Given the description of an element on the screen output the (x, y) to click on. 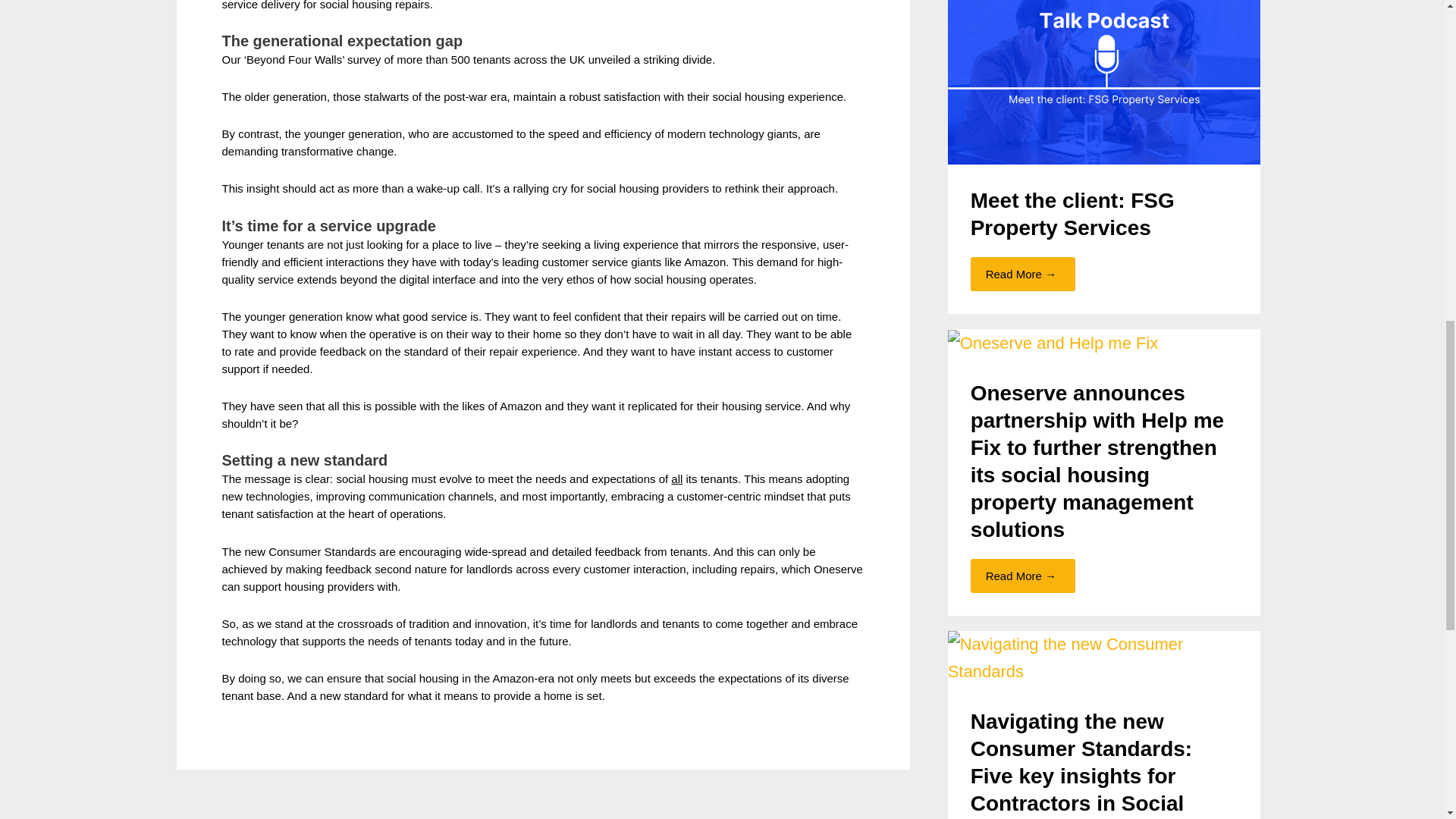
Meet the client: FSG Property Services (1103, 58)
